Given the description of an element on the screen output the (x, y) to click on. 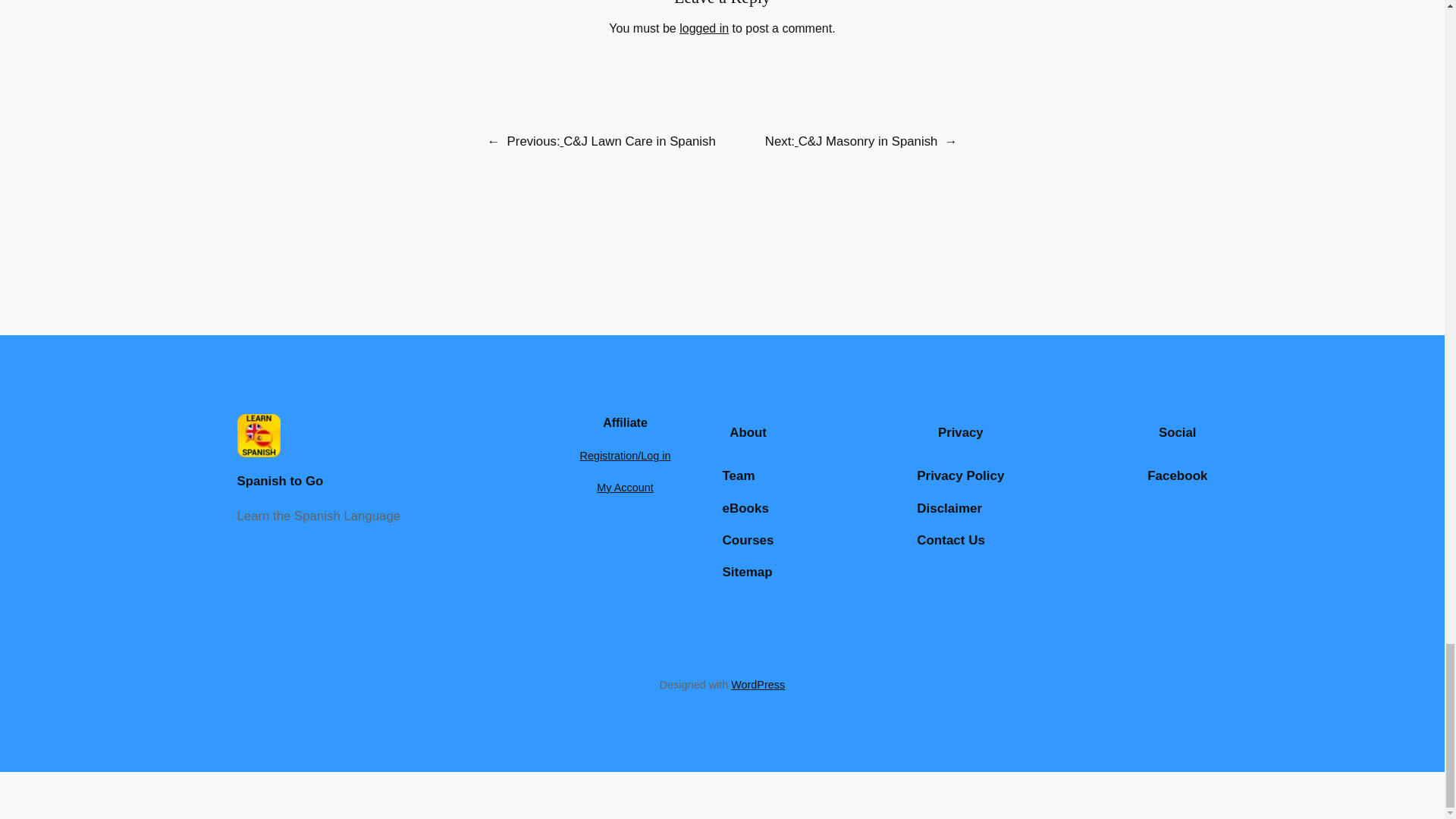
Team (738, 476)
My Account (624, 487)
Spanish to Go (279, 481)
logged in (704, 28)
eBooks (745, 508)
